Given the description of an element on the screen output the (x, y) to click on. 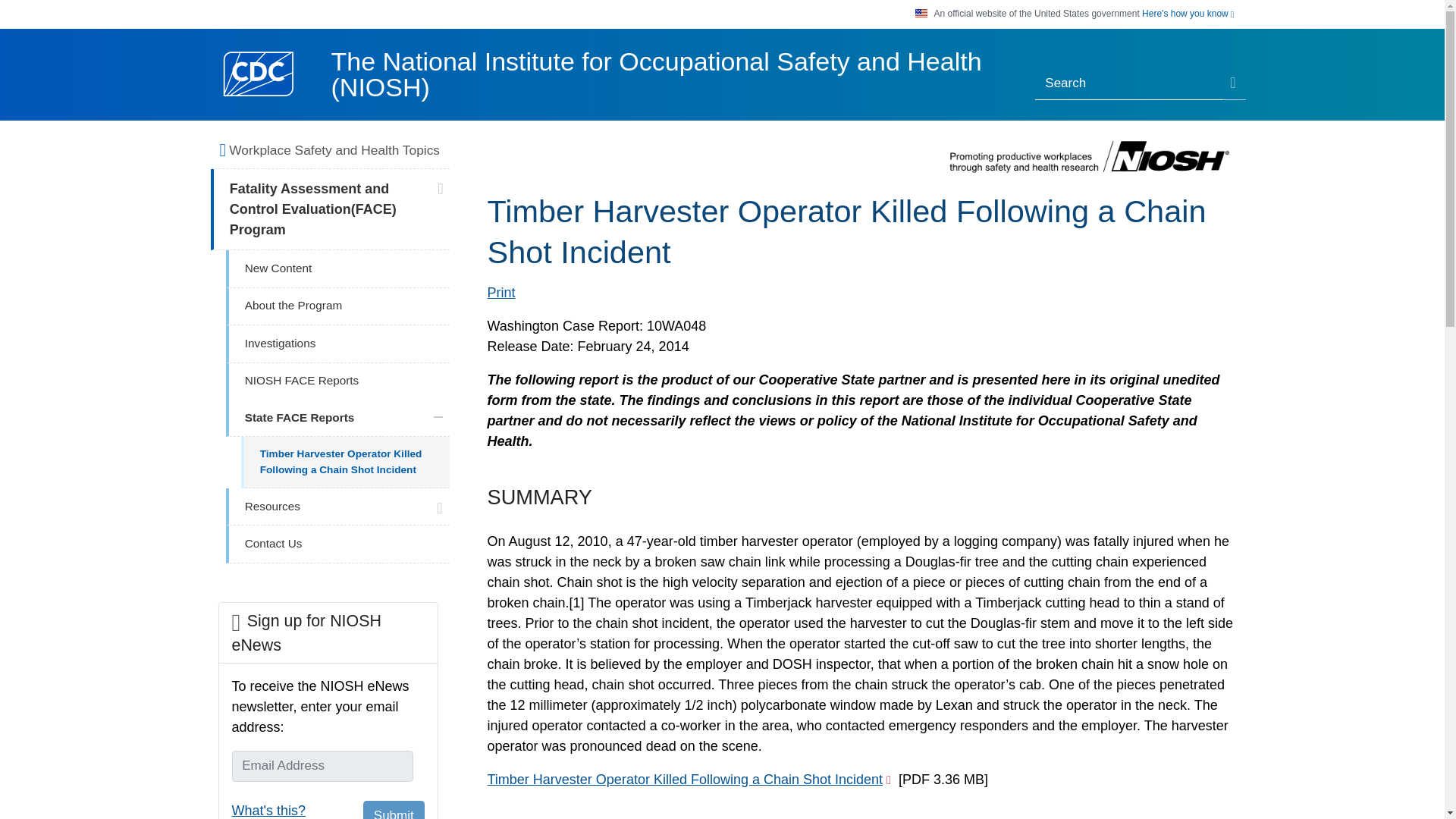
collapse (437, 417)
Email Address (322, 766)
Here's how you know (1187, 14)
